Given the description of an element on the screen output the (x, y) to click on. 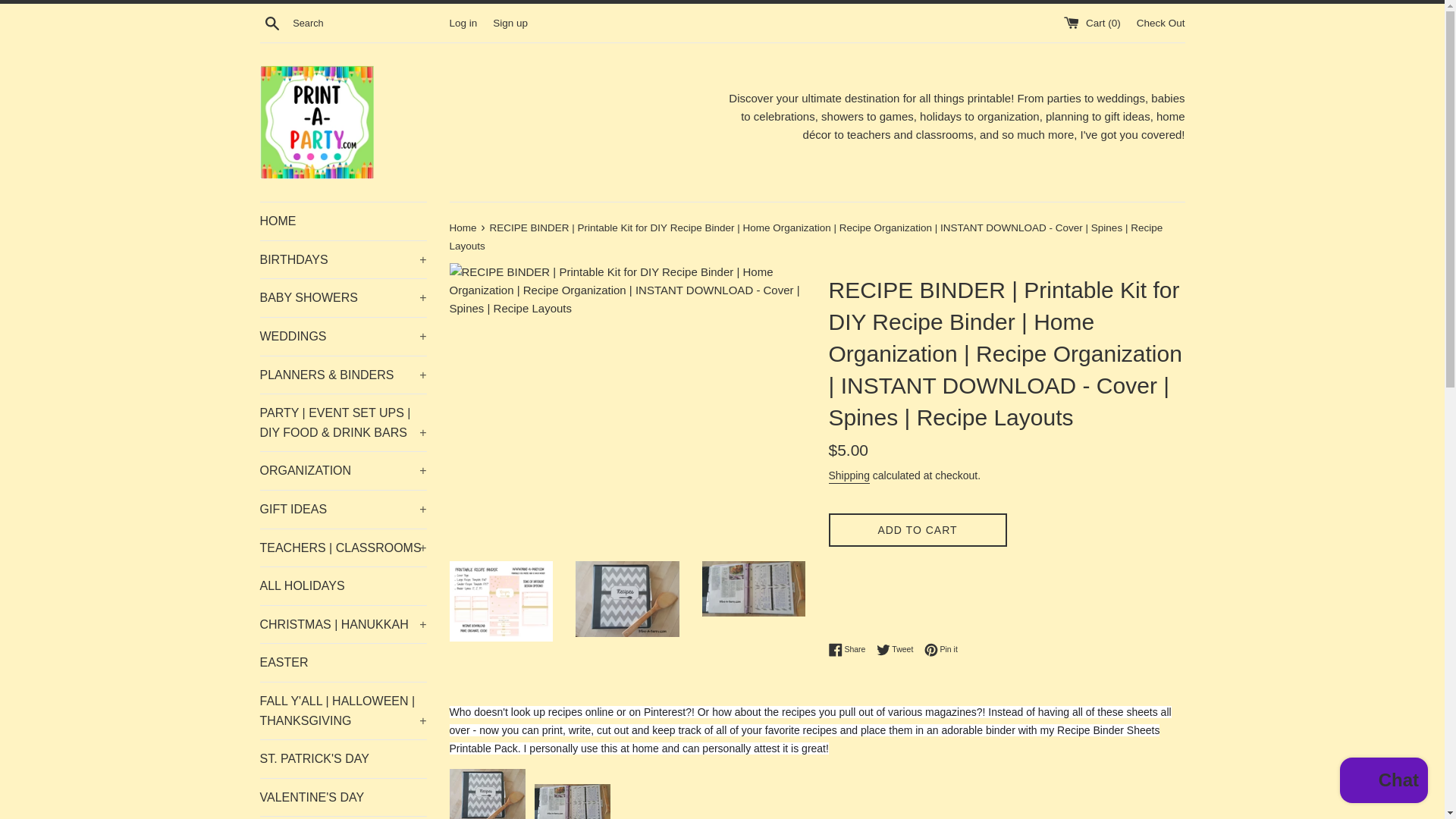
Tweet on Twitter (898, 649)
Log in (462, 21)
Pin on Pinterest (941, 649)
HOME (342, 221)
Sign up (510, 21)
Shopify online store chat (1383, 781)
Share on Facebook (850, 649)
Back to the frontpage (463, 227)
Check Out (1161, 21)
Search (271, 21)
